Given the description of an element on the screen output the (x, y) to click on. 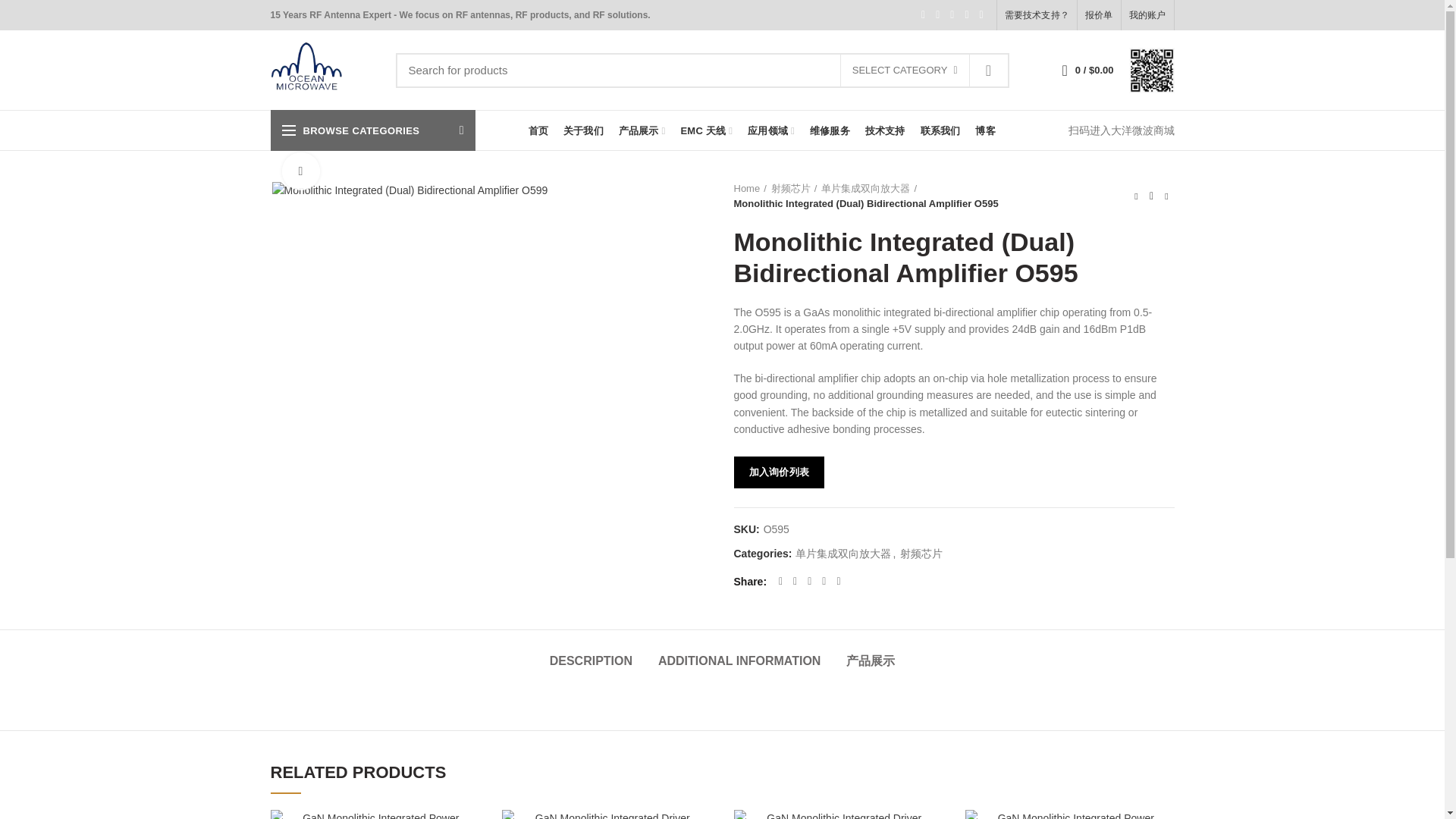
SELECT CATEGORY (904, 70)
Shopping cart (1087, 69)
SELECT CATEGORY (905, 70)
